Given the description of an element on the screen output the (x, y) to click on. 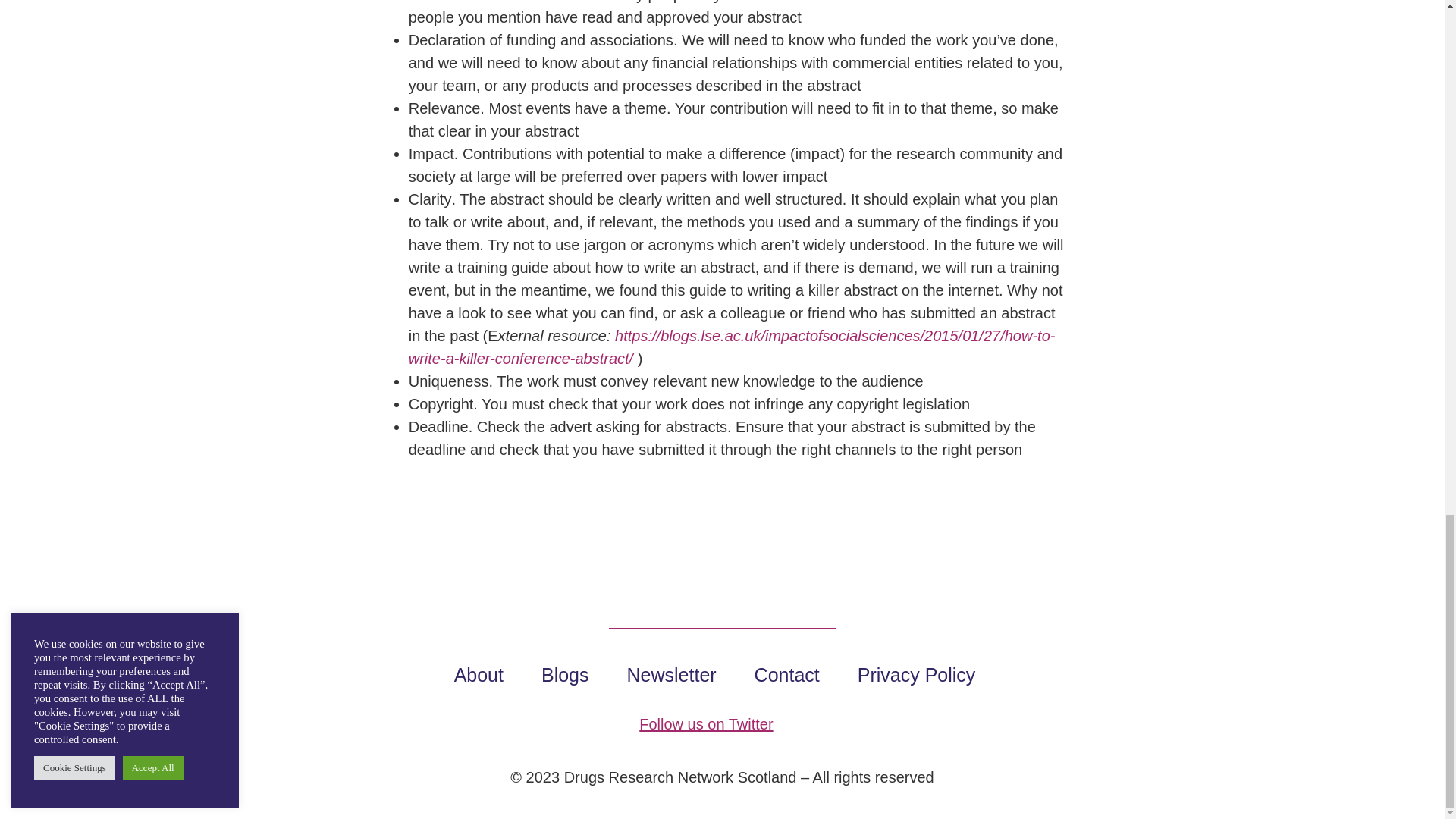
Blogs (572, 674)
Contact (793, 674)
Newsletter (678, 674)
About (485, 674)
Privacy Policy (924, 674)
Follow us on Twitter (706, 723)
